Given the description of an element on the screen output the (x, y) to click on. 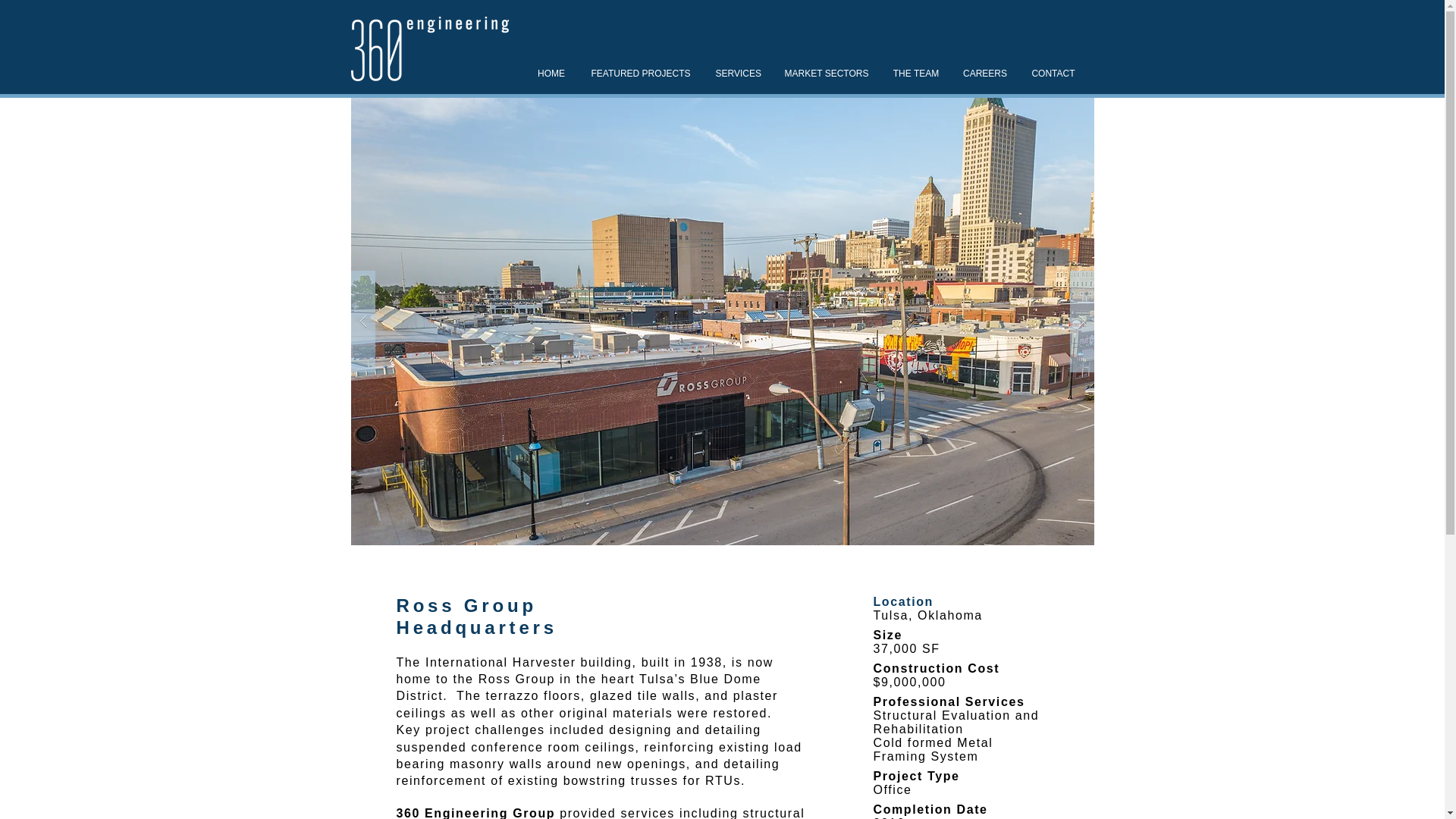
CONTACT (1053, 73)
FEATURED PROJECTS (641, 73)
THE TEAM (916, 73)
CAREERS (983, 73)
HOME (550, 73)
SERVICES (737, 73)
MARKET SECTORS (825, 73)
